Given the description of an element on the screen output the (x, y) to click on. 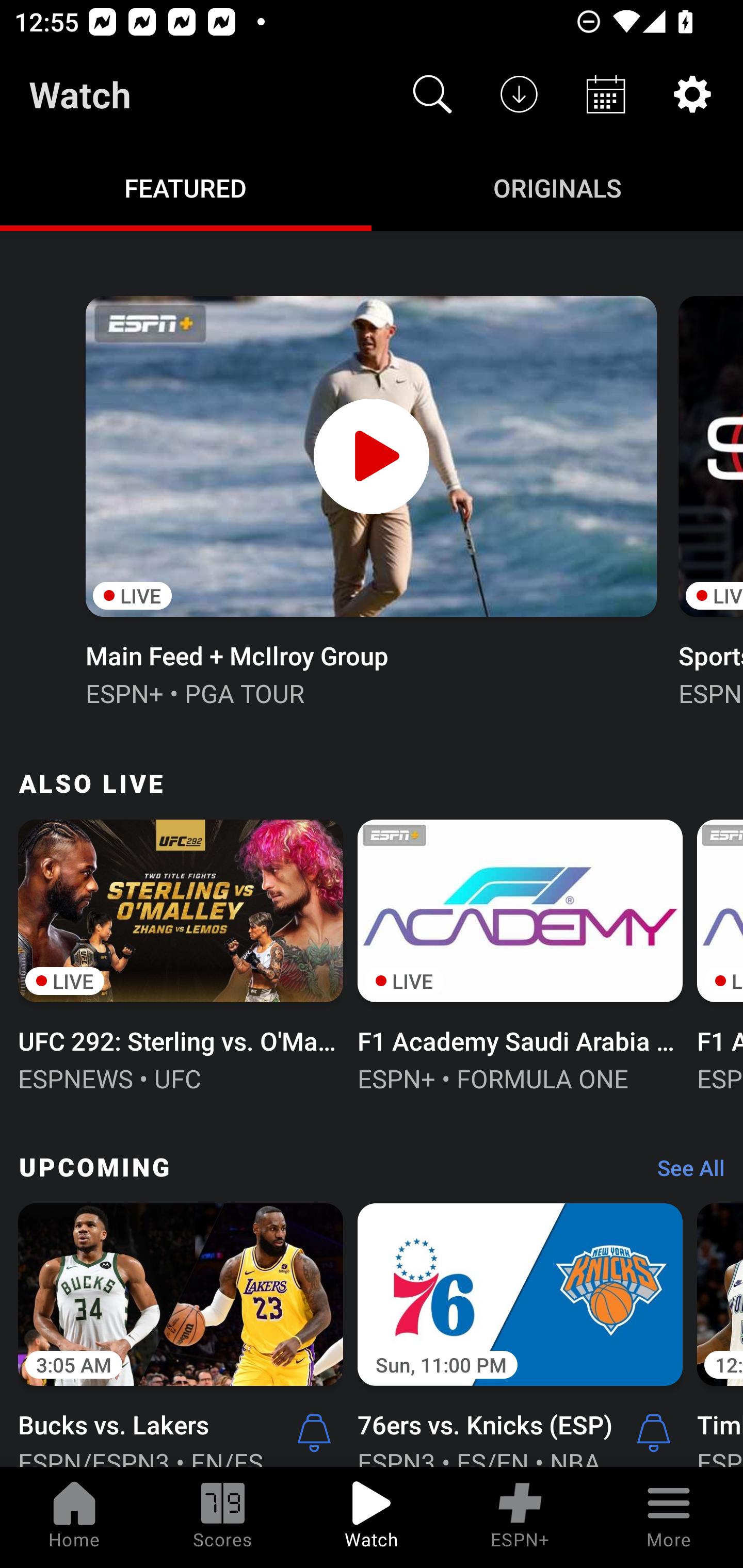
Search (432, 93)
Downloads (518, 93)
Schedule (605, 93)
Settings (692, 93)
Originals ORIGINALS (557, 187)
 LIVE Main Feed + McIlroy Group ESPN+ • PGA TOUR (370, 499)
LIVE UFC 292: Sterling vs. O'Malley ESPNEWS • UFC (180, 954)
See All (683, 1172)
Alerts (314, 1432)
Alerts (653, 1432)
Home (74, 1517)
Scores (222, 1517)
ESPN+ (519, 1517)
More (668, 1517)
